Given the description of an element on the screen output the (x, y) to click on. 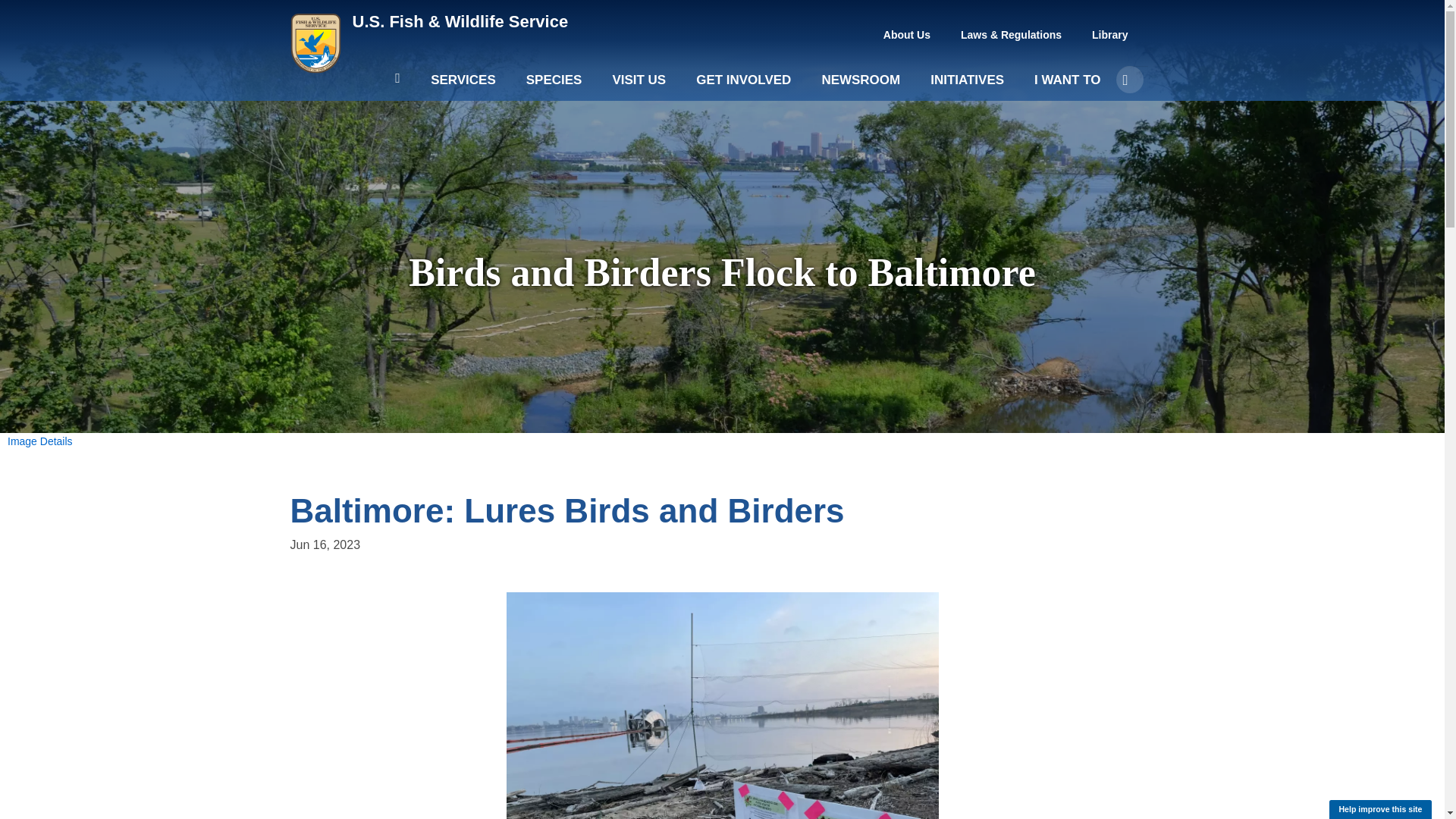
FWS Home (459, 21)
About Us (906, 34)
Access services provided by FWS (463, 86)
Library (1109, 34)
SERVICES (463, 86)
